Given the description of an element on the screen output the (x, y) to click on. 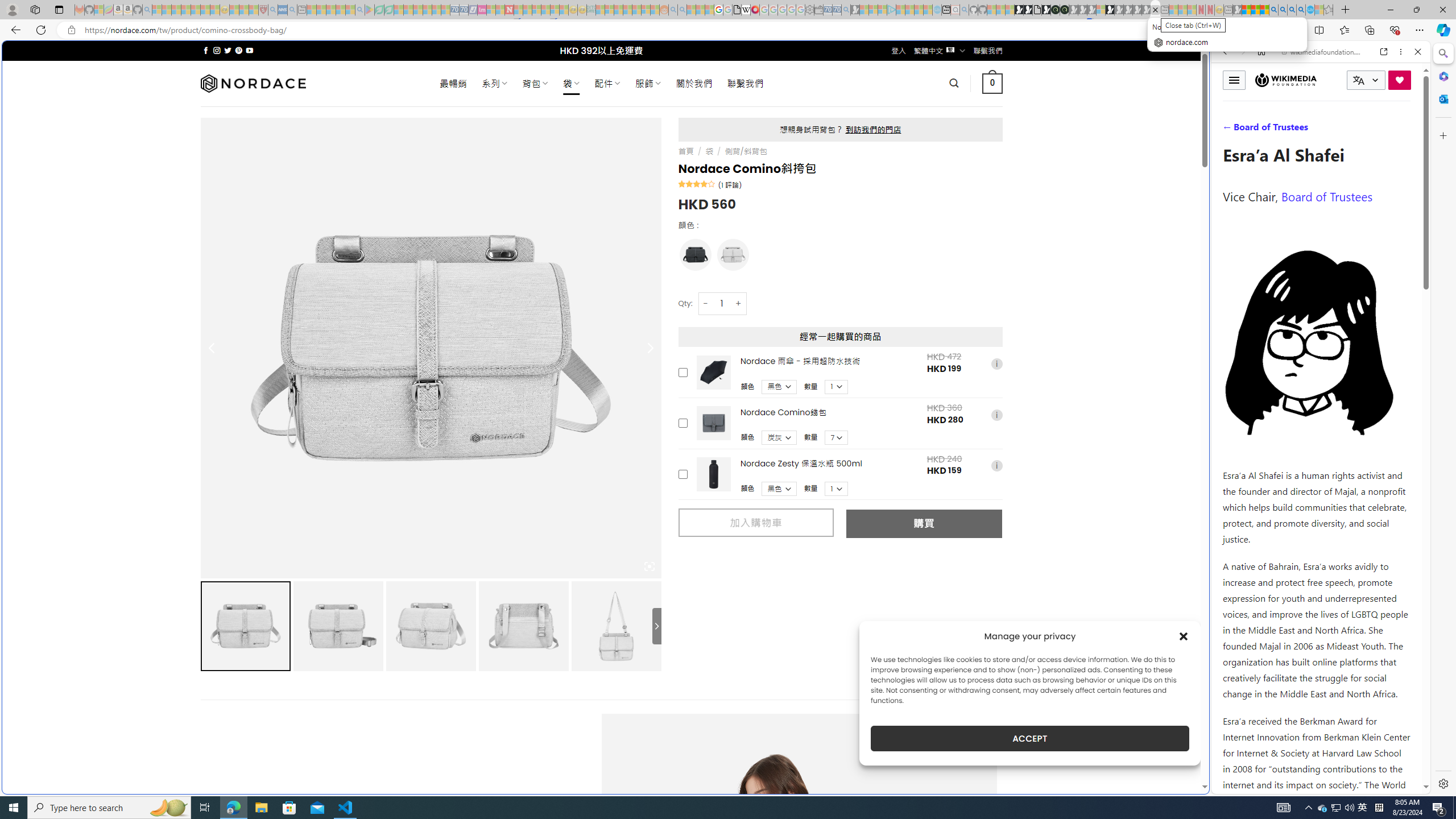
Back (1225, 51)
Close Customize pane (1442, 135)
Follow on Facebook (205, 50)
App bar (728, 29)
google_privacy_policy_zh-CN.pdf (736, 9)
IMAGES (1262, 130)
Target page - Wikipedia (745, 9)
list of asthma inhalers uk - Search - Sleeping (272, 9)
Follow on Instagram (216, 50)
